Given the description of an element on the screen output the (x, y) to click on. 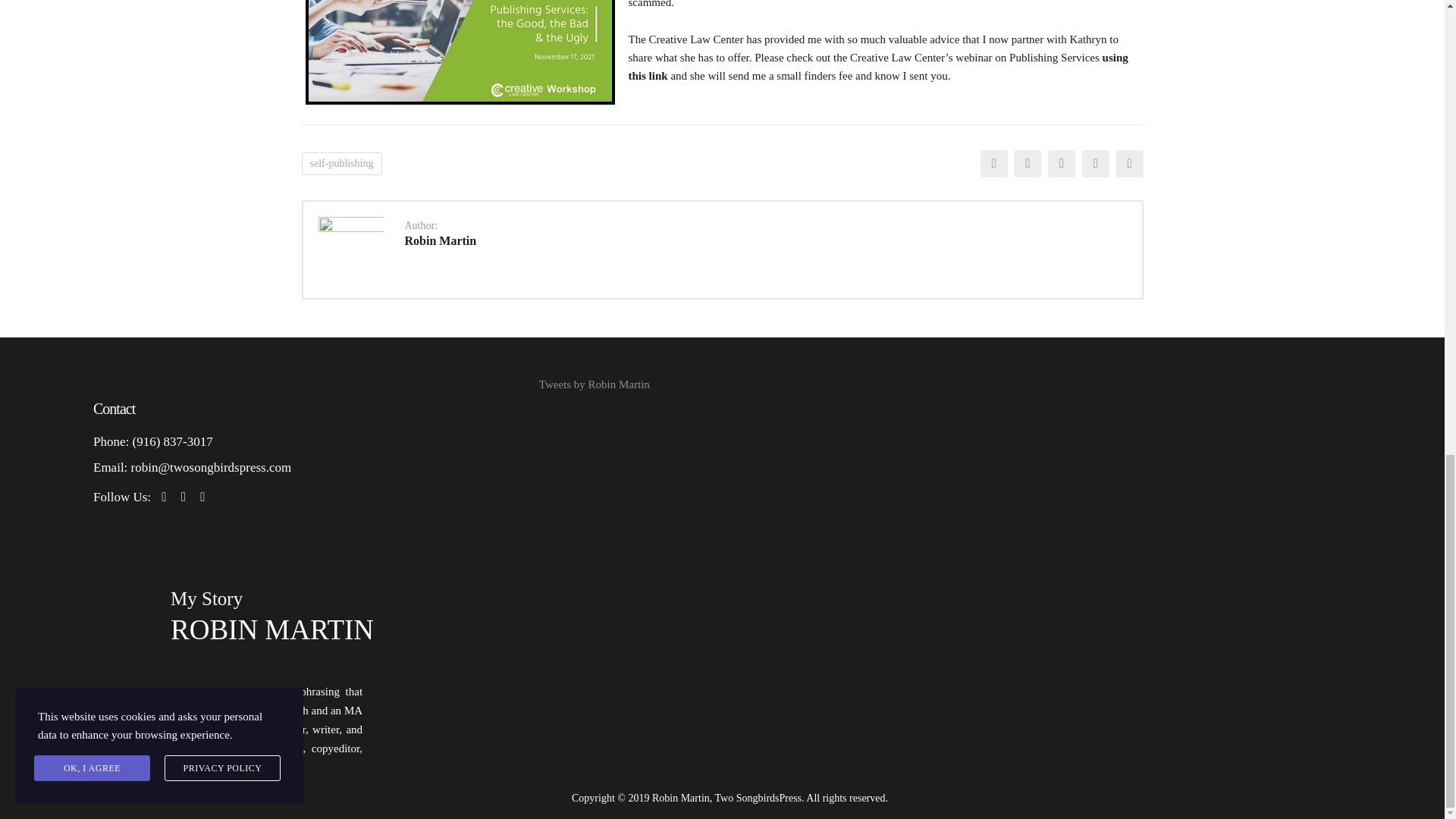
self-publishing (341, 163)
using this link (876, 66)
